Given the description of an element on the screen output the (x, y) to click on. 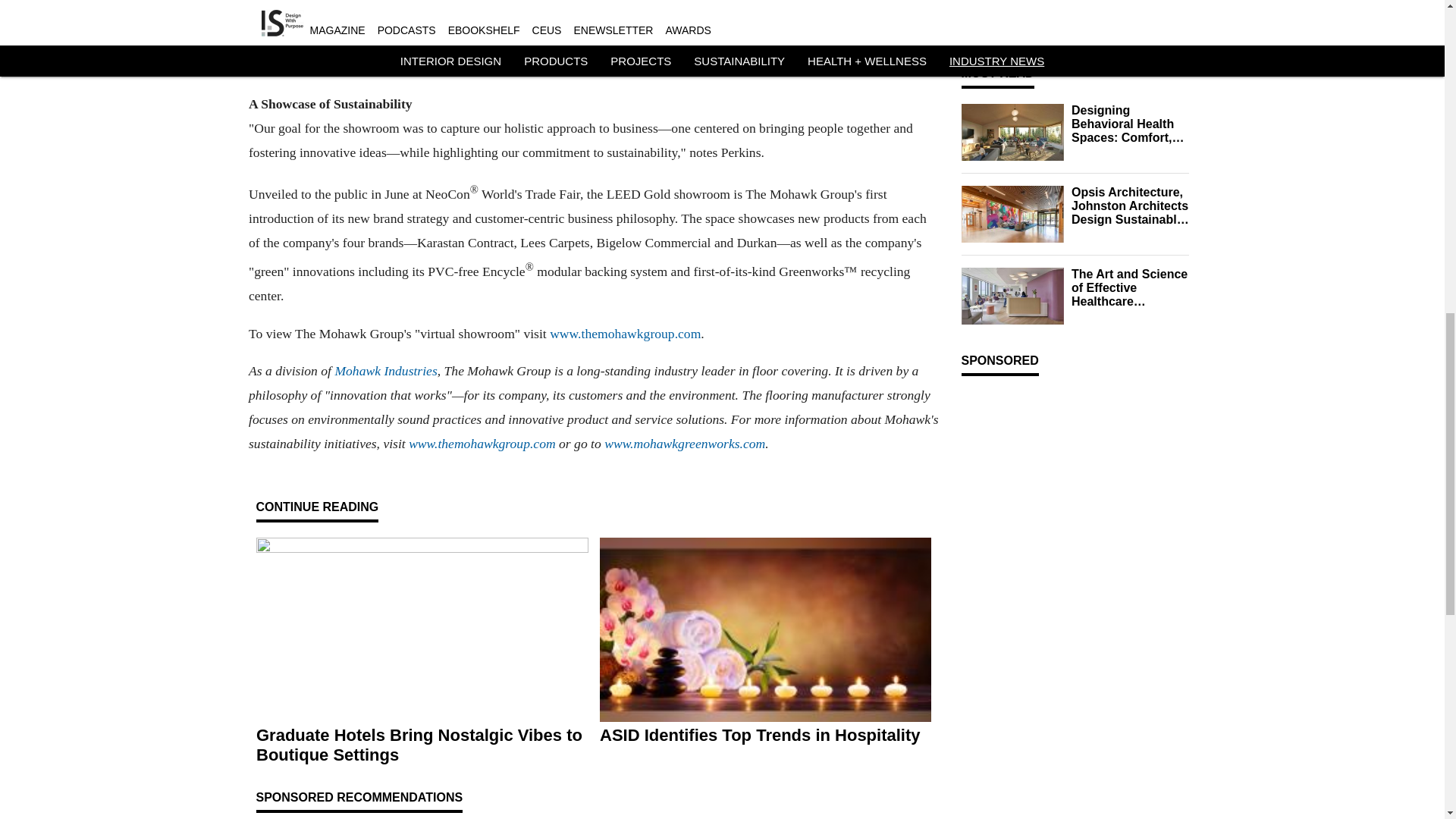
www.mohawkgreenworks.com (684, 443)
Graduate Hotels Bring Nostalgic Vibes to Boutique Settings (422, 744)
www.themohawkgroup.com (482, 443)
Mohawk Industries (385, 370)
ASID Identifies Top Trends in Hospitality (764, 735)
Kimball International (1099, 23)
www.themohawkgroup.com (625, 333)
